Given the description of an element on the screen output the (x, y) to click on. 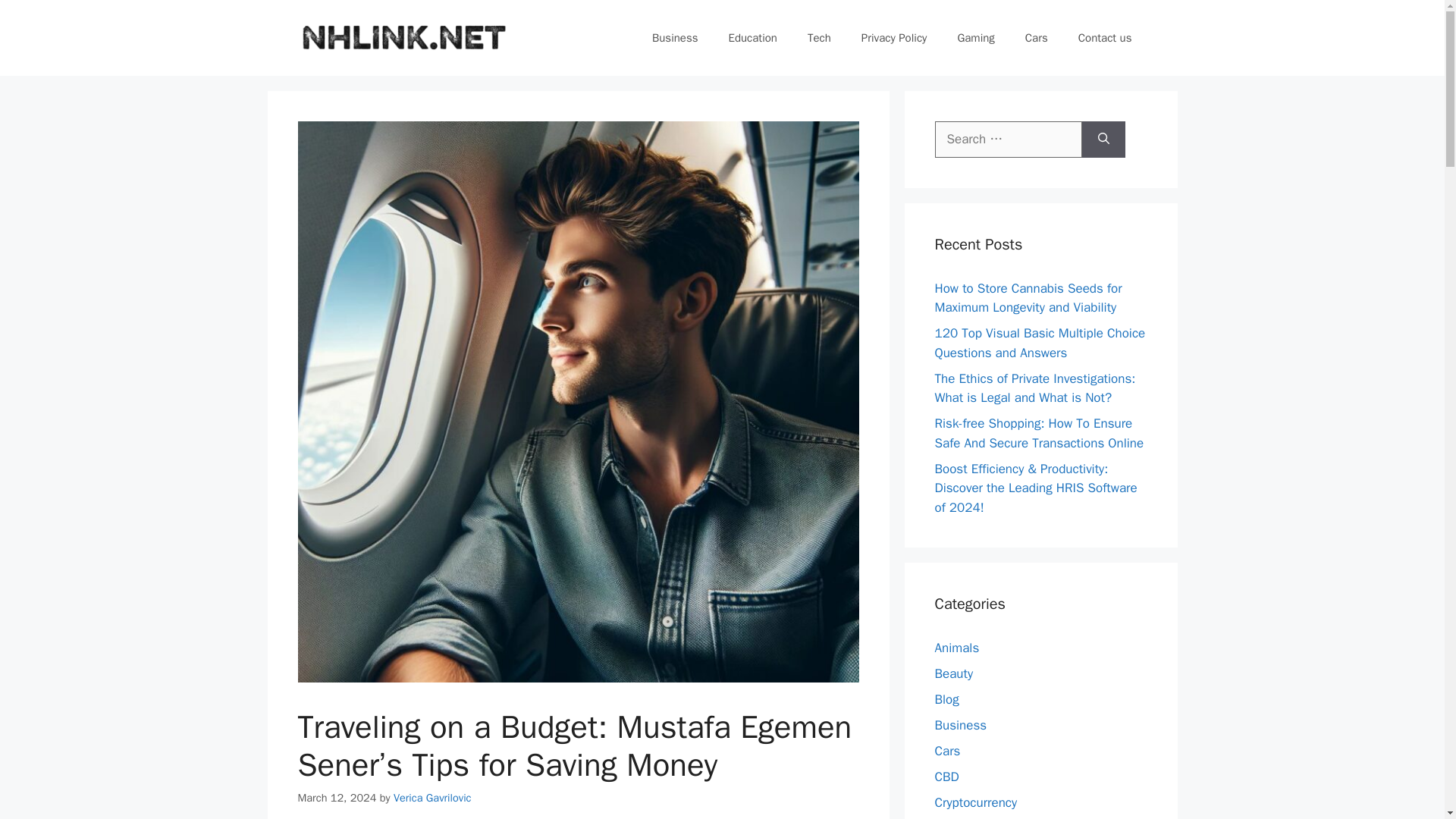
Cars (946, 750)
Privacy Policy (893, 37)
View all posts by Verica Gavrilovic (432, 797)
Business (675, 37)
Search for: (1007, 139)
Gaming (975, 37)
Verica Gavrilovic (432, 797)
Education (752, 37)
